Given the description of an element on the screen output the (x, y) to click on. 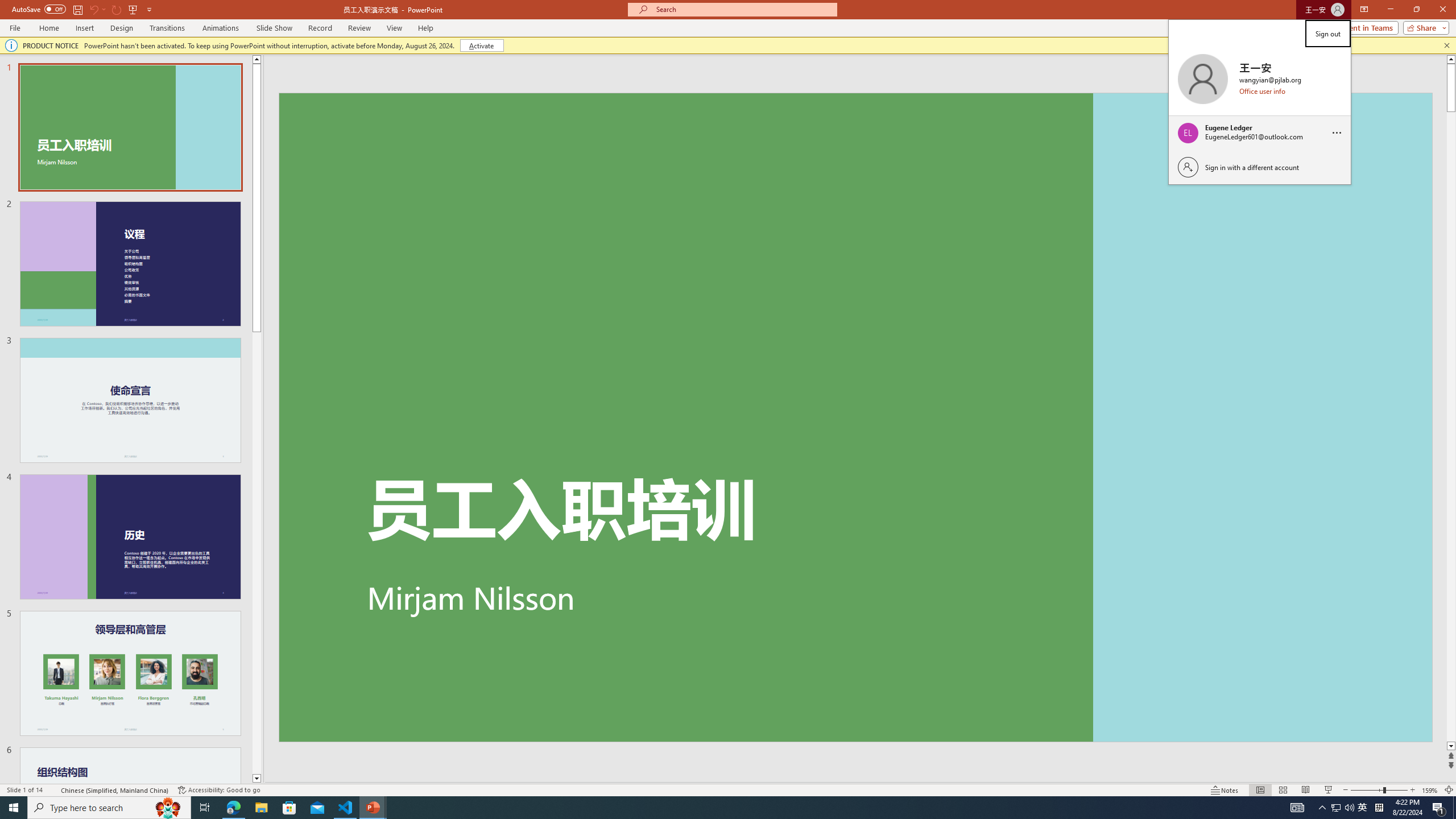
PowerPoint - 2 running windows (373, 807)
